Given the description of an element on the screen output the (x, y) to click on. 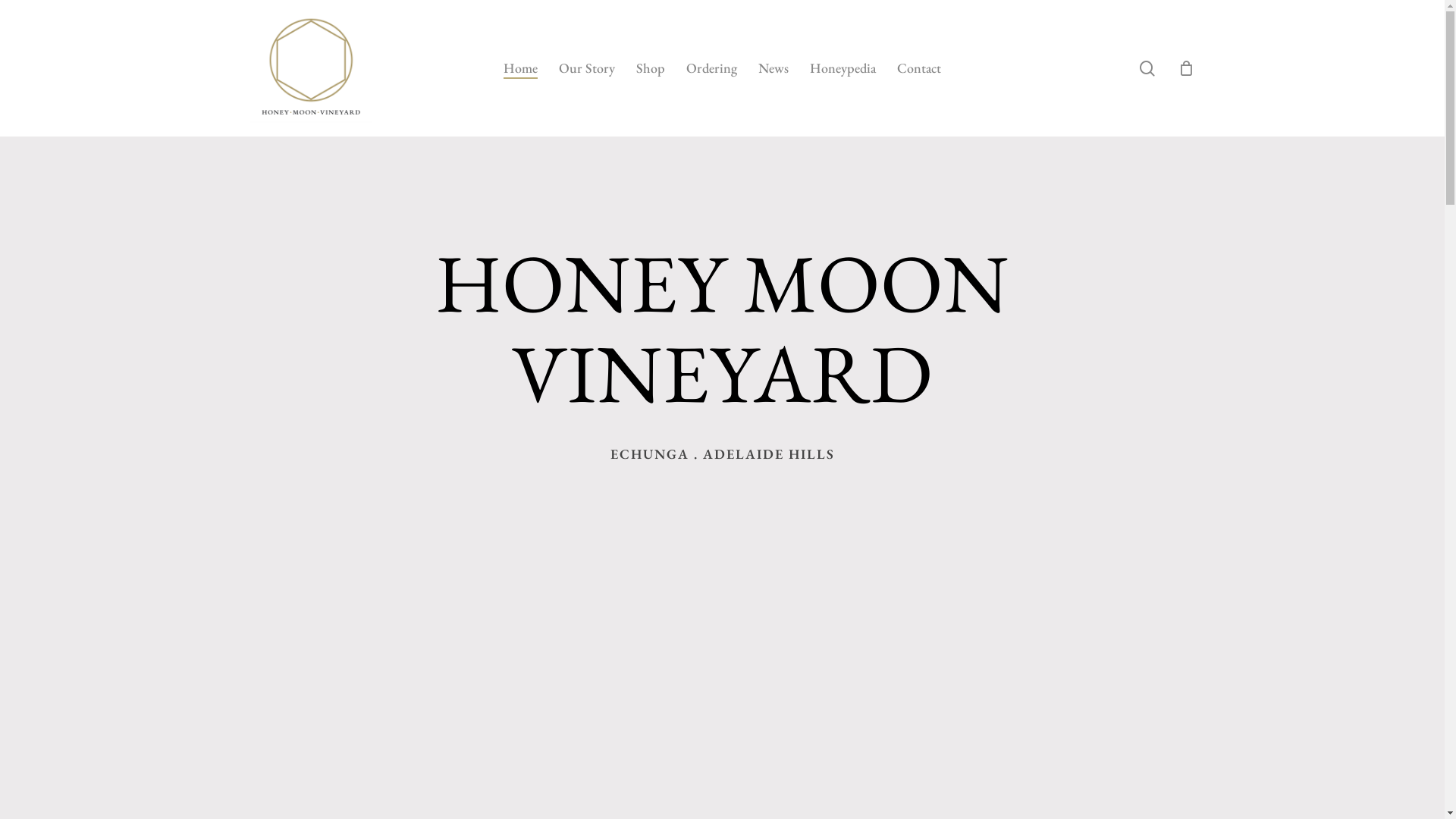
Home Element type: text (520, 68)
Shop Element type: text (650, 68)
Ordering Element type: text (711, 68)
News Element type: text (773, 68)
Our Story Element type: text (586, 68)
Contact Element type: text (919, 68)
Honeypedia Element type: text (842, 68)
search Element type: text (1147, 68)
